Given the description of an element on the screen output the (x, y) to click on. 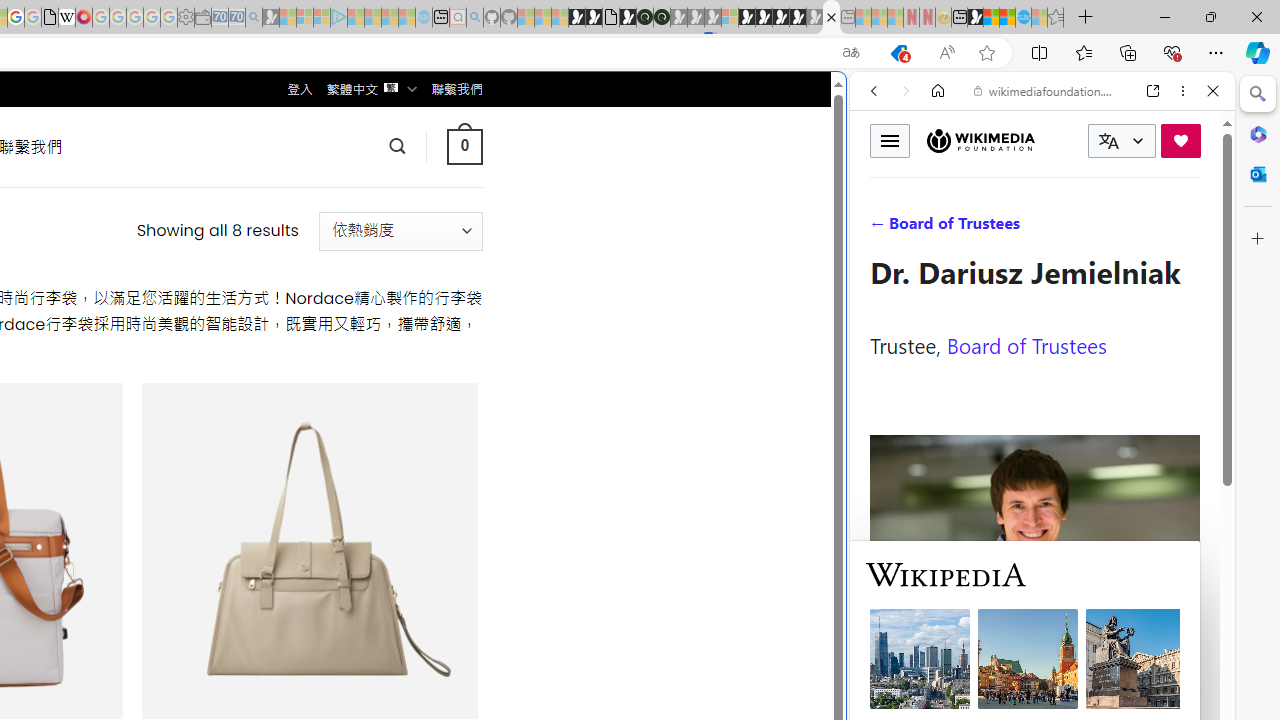
google_privacy_policy_zh-CN.pdf (49, 17)
CURRENT LANGUAGE: (1121, 141)
github - Search - Sleeping (474, 17)
Play Zoo Boom in your browser | Games from Microsoft Start (593, 17)
